Given the description of an element on the screen output the (x, y) to click on. 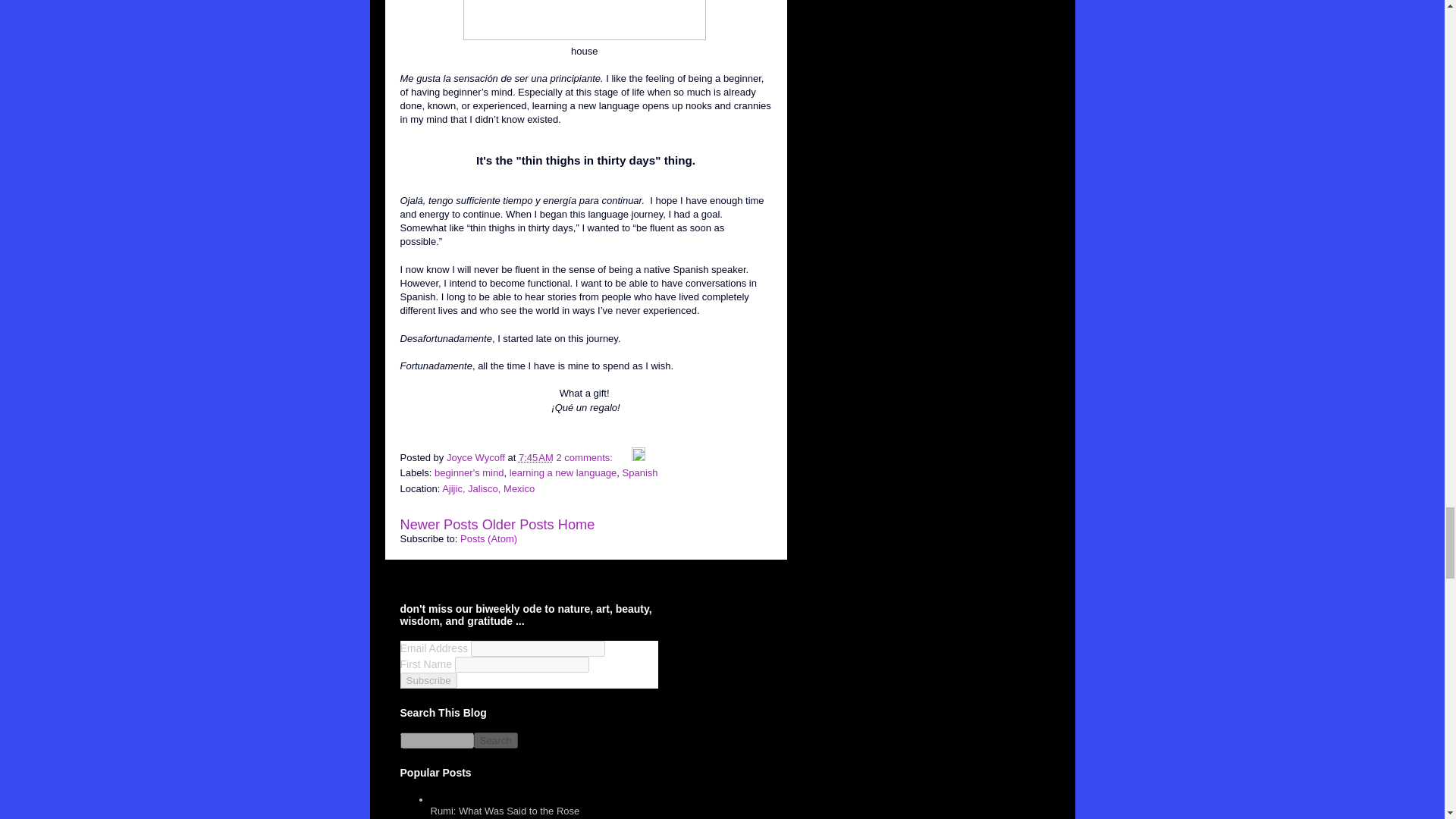
permanent link (535, 457)
Email Post (623, 457)
Search (494, 740)
Edit Post (638, 457)
Subscribe (428, 680)
author profile (477, 457)
Search (494, 740)
